Given the description of an element on the screen output the (x, y) to click on. 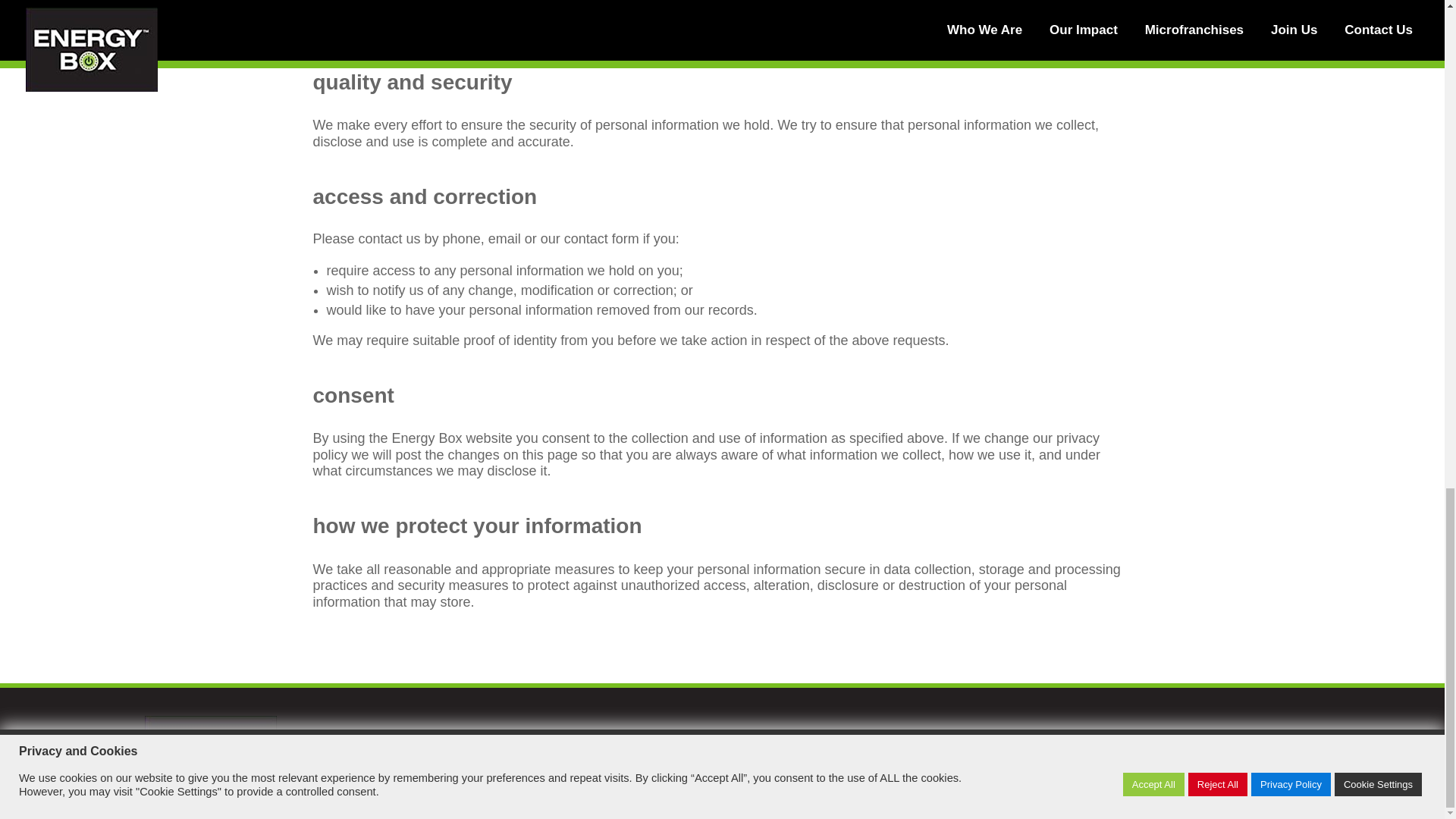
PRIVACY (1174, 739)
4Walls-logo.png (210, 757)
TERMS OF USE (1251, 739)
Facebook (861, 764)
CONTACT (1110, 739)
